Given the description of an element on the screen output the (x, y) to click on. 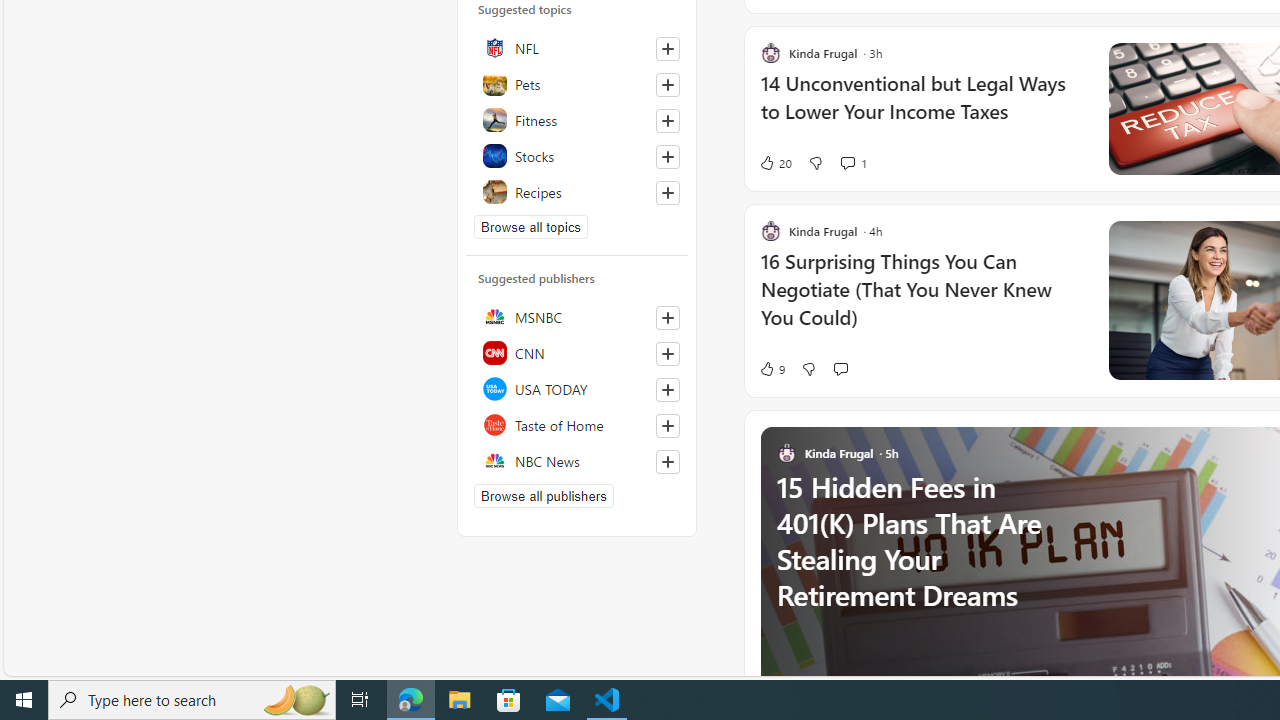
Follow this topic (667, 192)
9 Like (771, 368)
CNN (577, 353)
USA TODAY (577, 389)
NBC News (577, 461)
View comments 1 Comment (852, 162)
Fitness (577, 119)
Follow this source (667, 461)
Start the conversation (840, 368)
14 Unconventional but Legal Ways to Lower Your Income Taxes (922, 107)
